Given the description of an element on the screen output the (x, y) to click on. 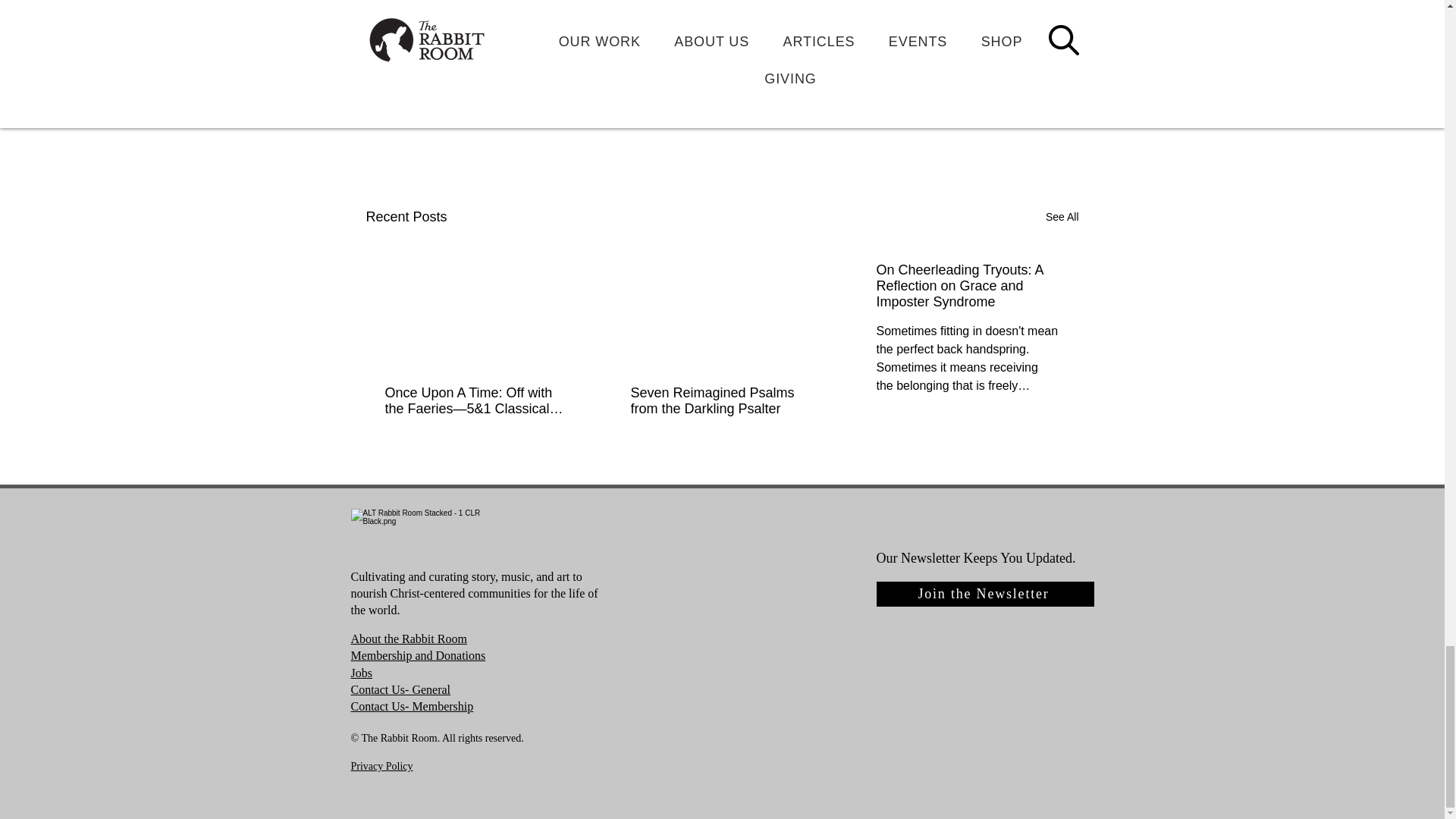
remote content (721, 28)
Seven Reimagined Psalms from the Darkling Psalter (721, 400)
See All (1061, 217)
